Given the description of an element on the screen output the (x, y) to click on. 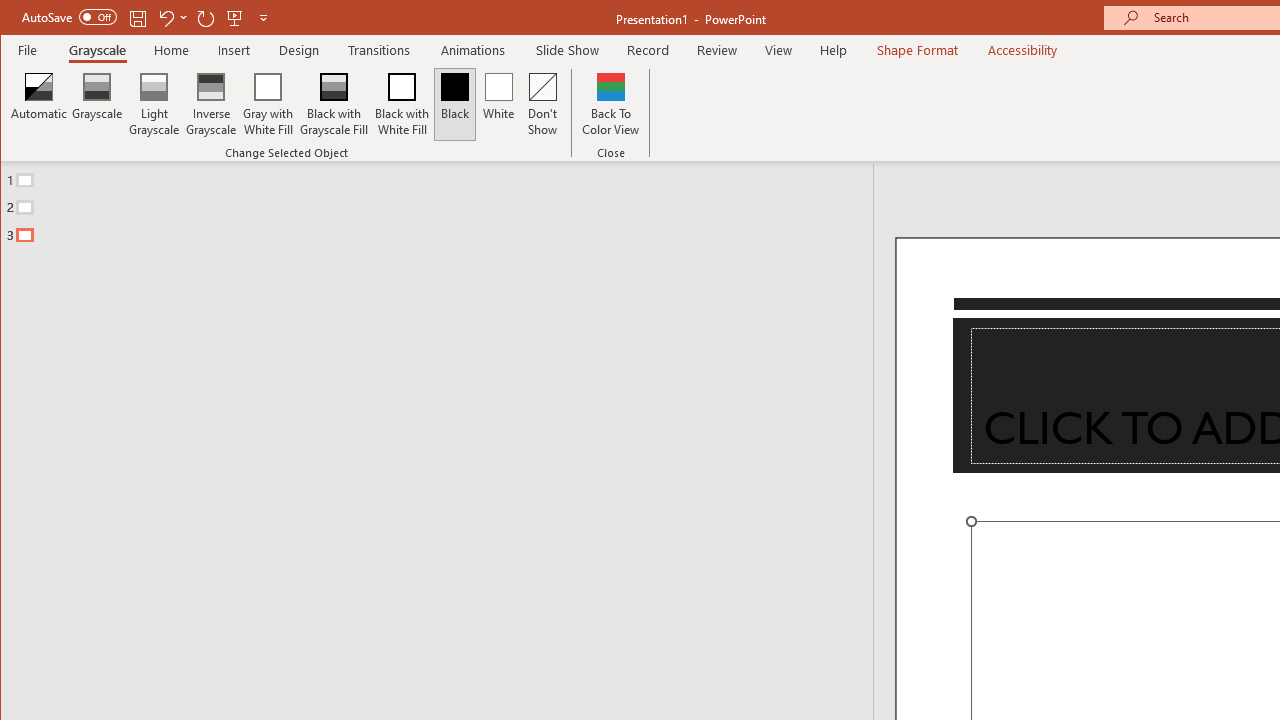
Redo (206, 17)
Outline (445, 203)
File Tab (28, 49)
Grayscale (97, 104)
Black with Grayscale Fill (334, 104)
Home (171, 50)
Inverse Grayscale (211, 104)
